Given the description of an element on the screen output the (x, y) to click on. 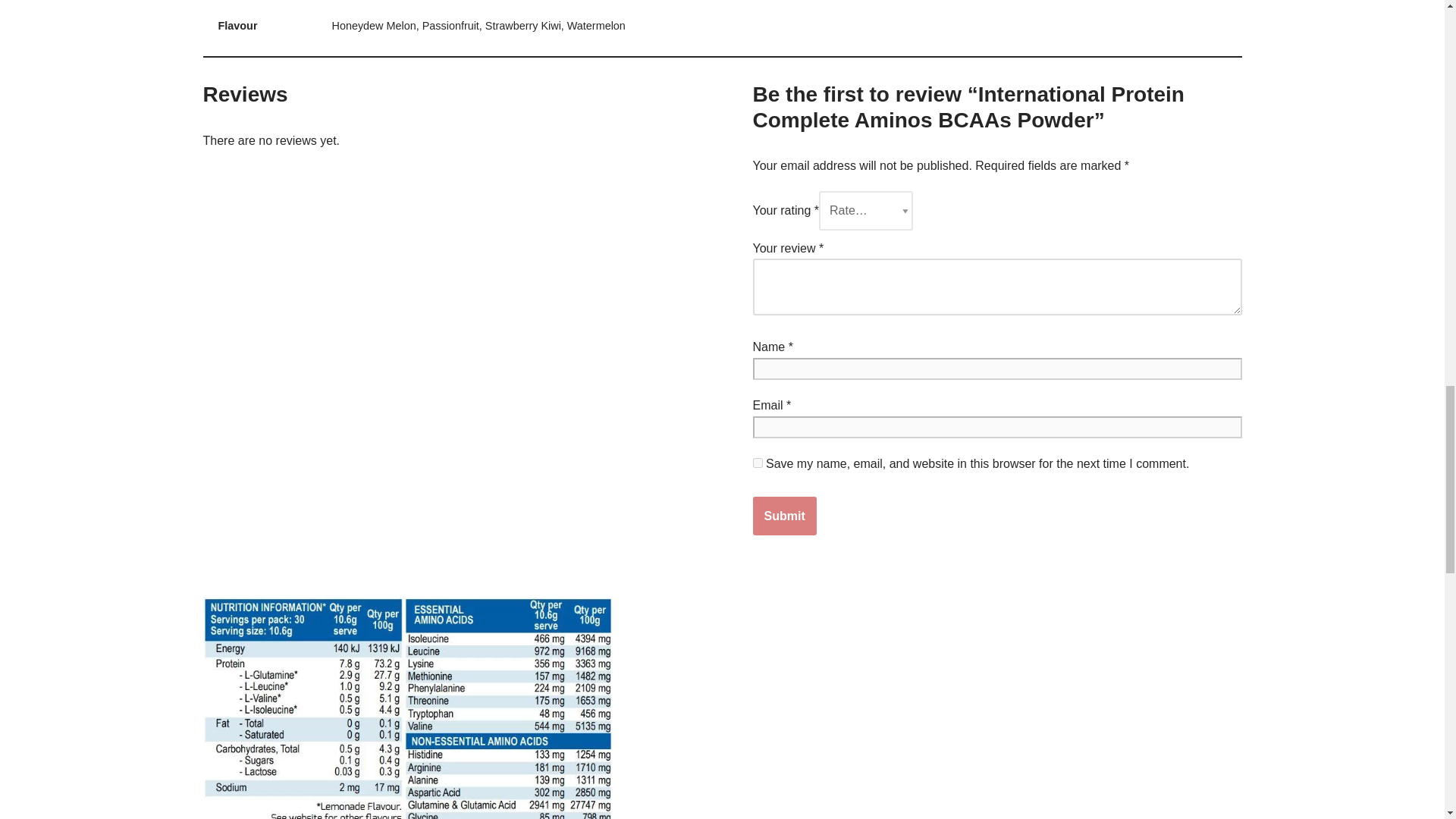
Submit (783, 516)
yes (756, 462)
